Given the description of an element on the screen output the (x, y) to click on. 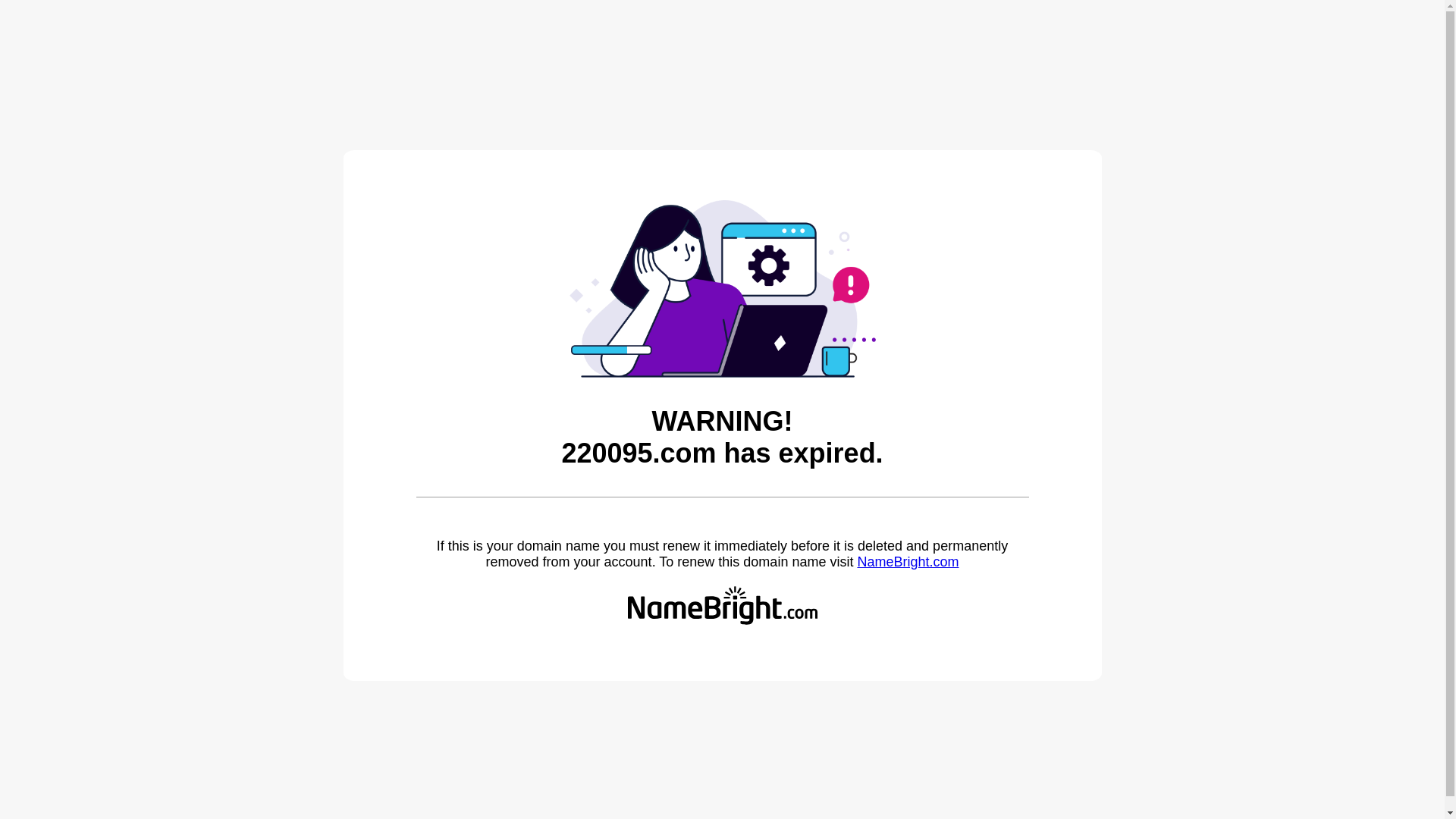
NameBright.com Element type: text (907, 561)
